Given the description of an element on the screen output the (x, y) to click on. 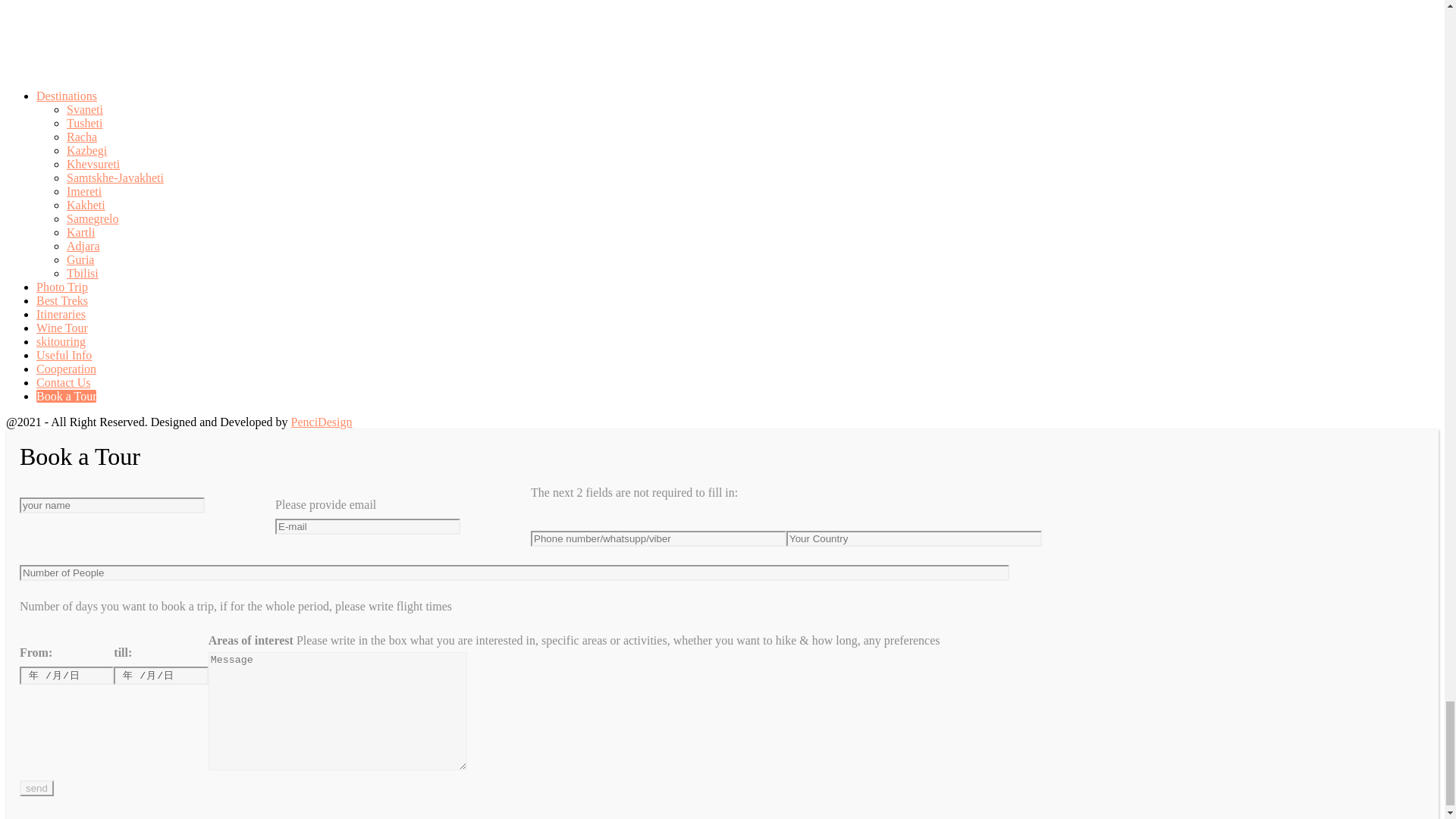
send (36, 788)
